Given the description of an element on the screen output the (x, y) to click on. 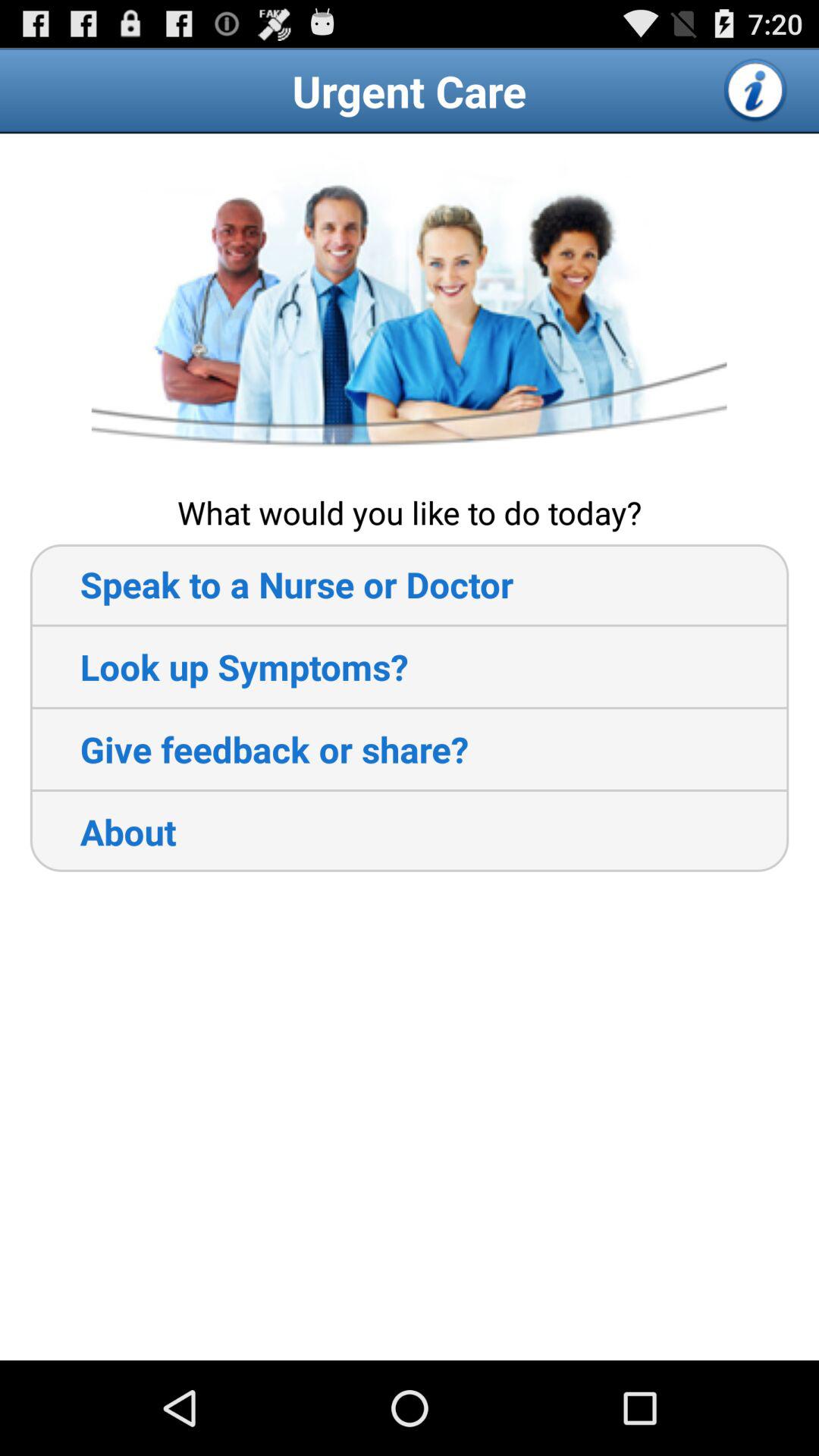
click about item (103, 831)
